Given the description of an element on the screen output the (x, y) to click on. 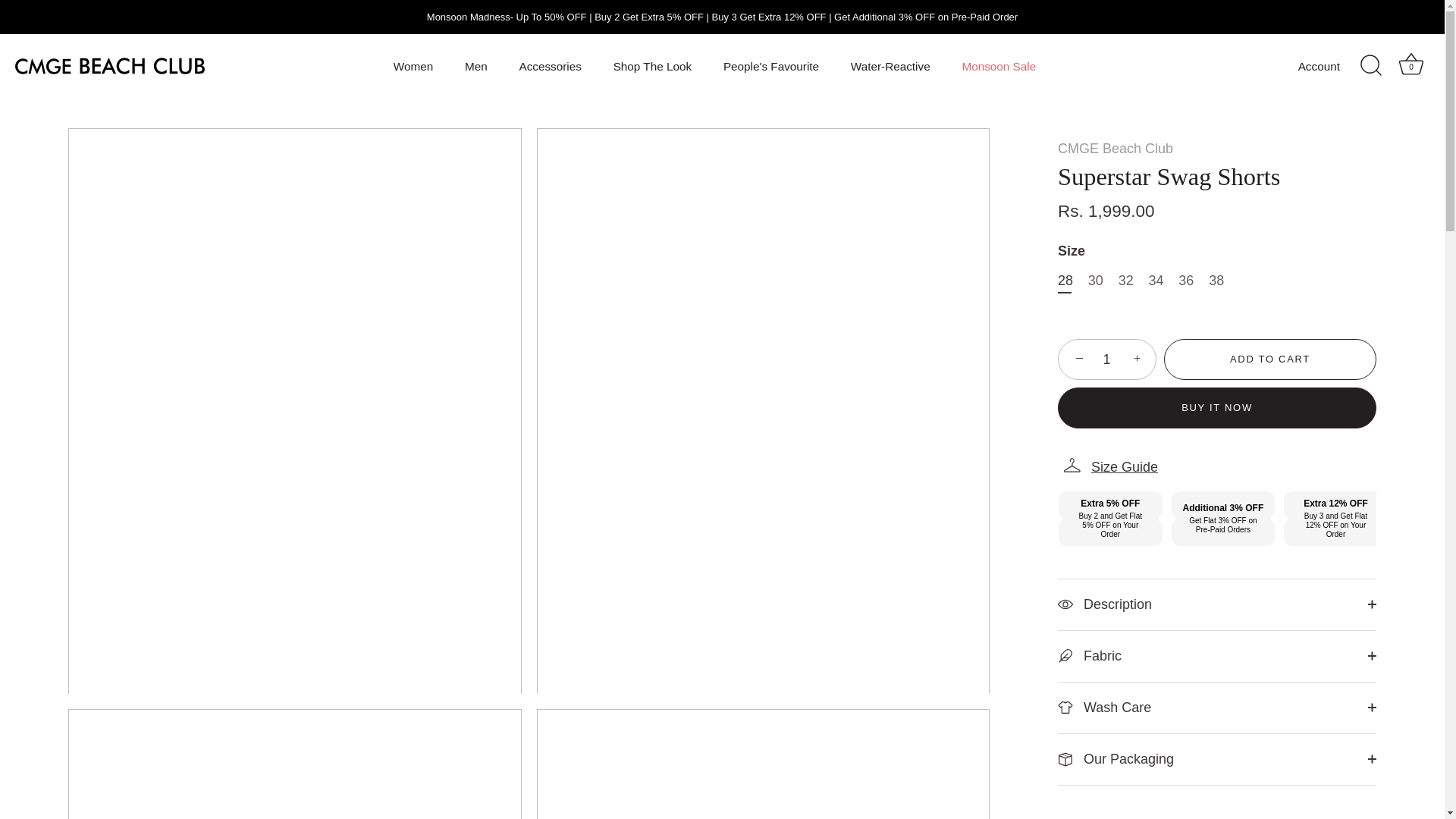
Monsoon Sale (998, 65)
Shop The Look (651, 65)
Men (475, 65)
People's Favourite (771, 65)
Basket (1410, 63)
Water-Reactive (889, 65)
Women (412, 65)
Accessories (550, 65)
